Given the description of an element on the screen output the (x, y) to click on. 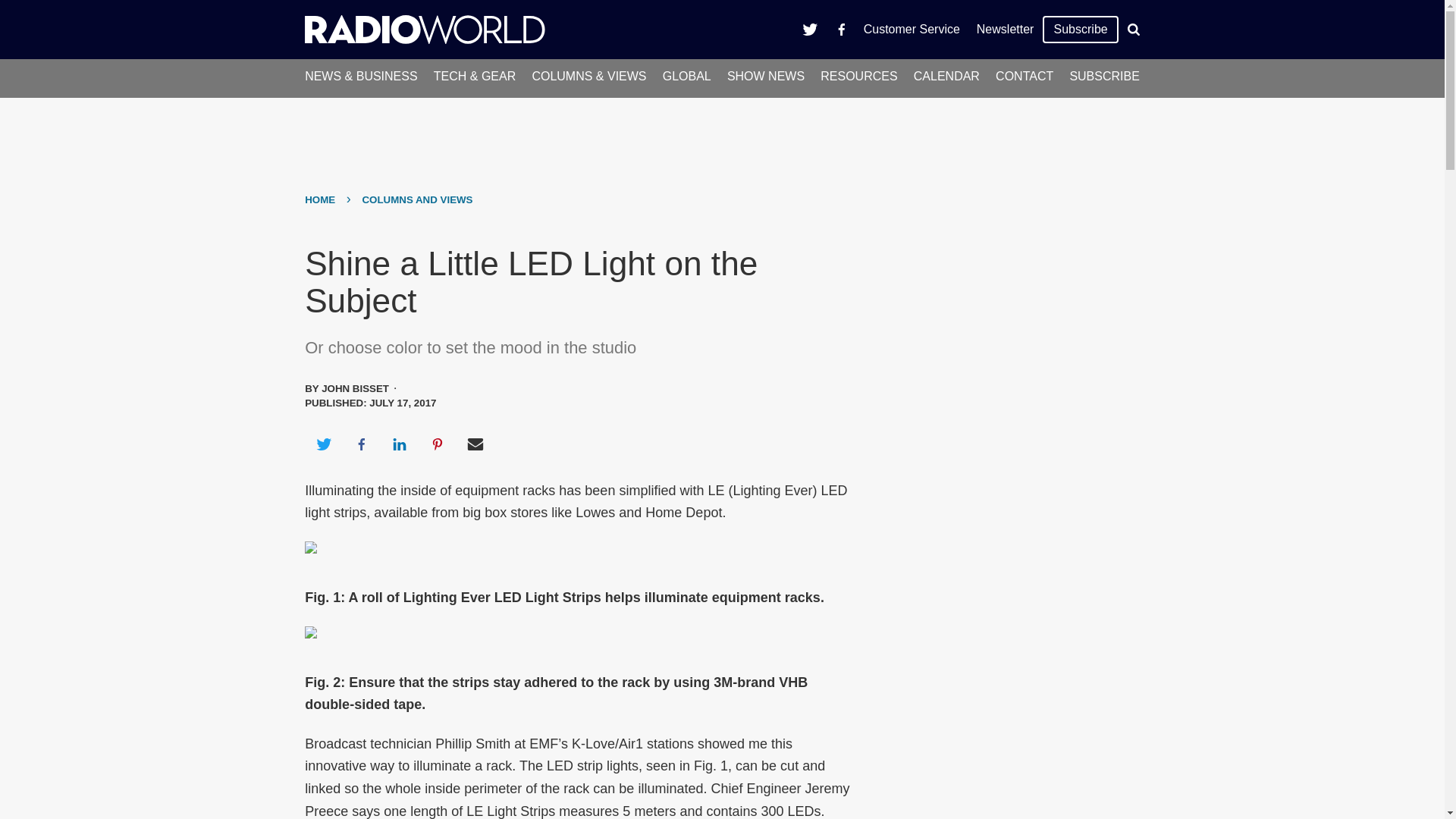
Share on Pinterest (438, 444)
Share on Facebook (361, 444)
Share on Twitter (323, 444)
Share via Email (476, 444)
Customer Service (912, 29)
Share on LinkedIn (399, 444)
